Given the description of an element on the screen output the (x, y) to click on. 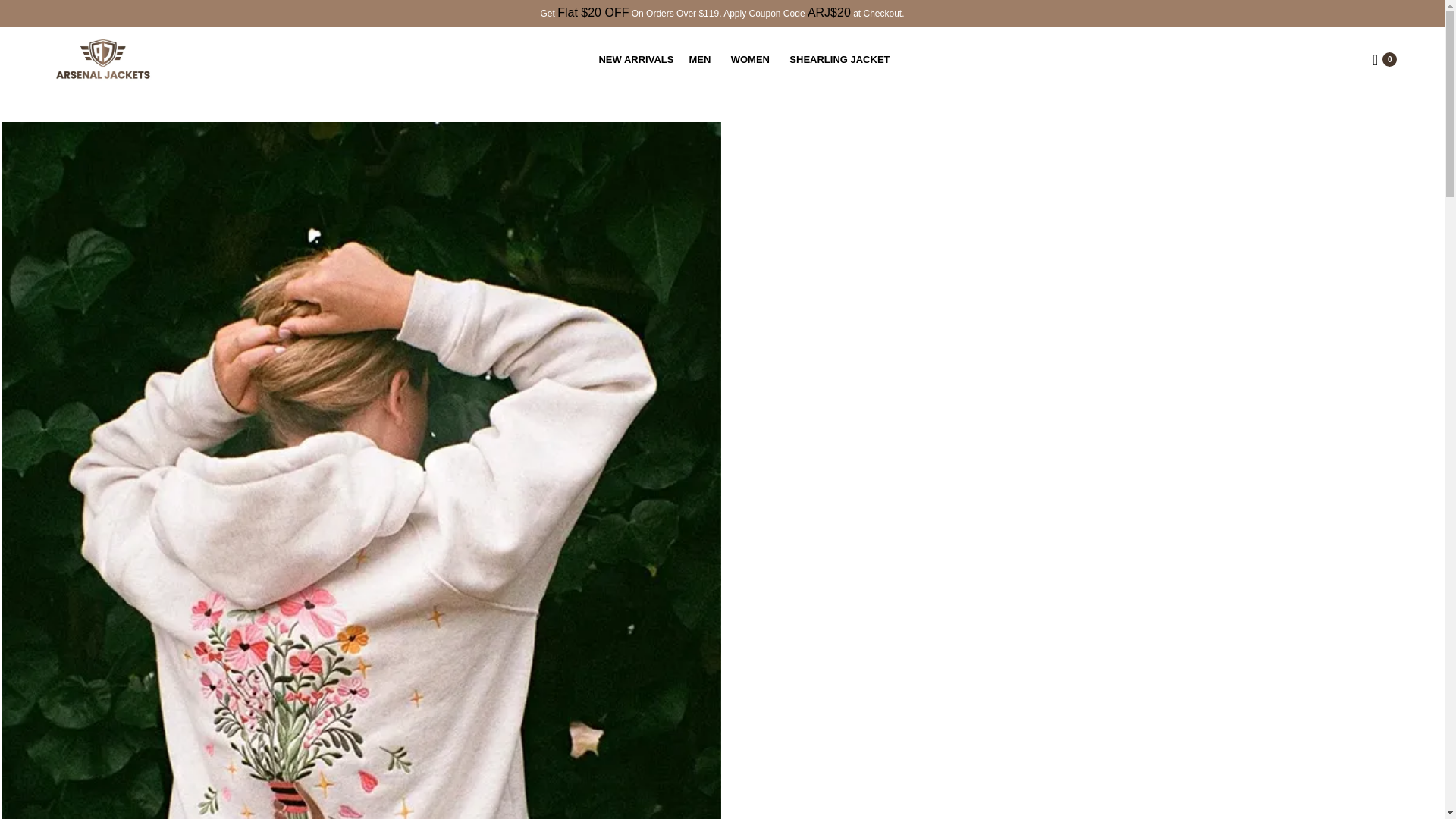
Shopping cart (1385, 59)
MEN (701, 59)
WOMEN (753, 59)
0 (1385, 59)
NEW ARRIVALS (636, 59)
SHEARLING JACKET (841, 59)
